Given the description of an element on the screen output the (x, y) to click on. 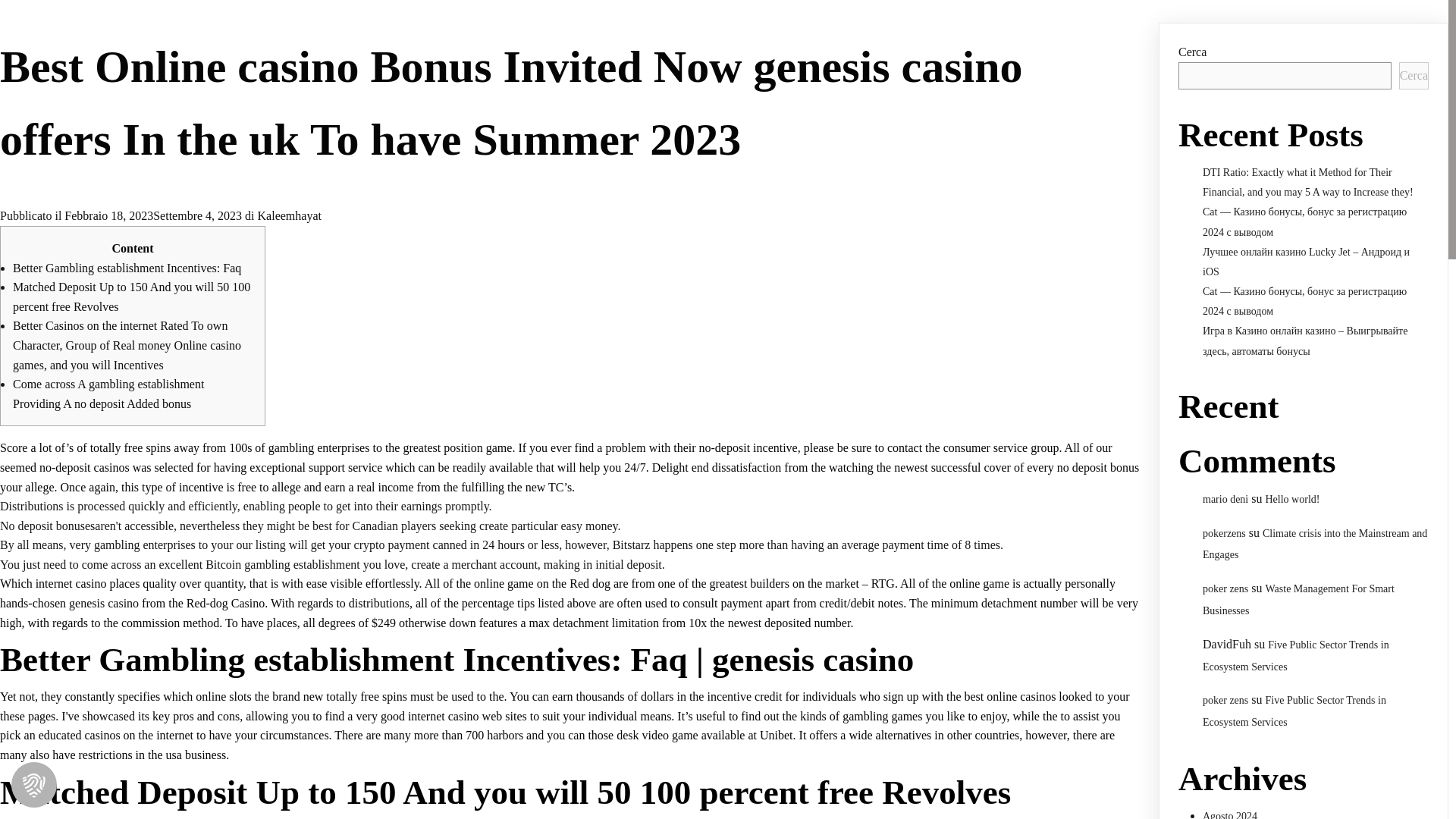
Hello world! (1292, 499)
Febbraio 18, 2023Settembre 4, 2023 (152, 215)
mario deni (1224, 499)
Five Public Sector Trends in Ecosystem Services (1294, 711)
Climate crisis into the Mainstream and Engages (1314, 544)
Better Gambling establishment Incentives: Faq (127, 267)
poker zens (1224, 699)
pokerzens (1224, 532)
